Given the description of an element on the screen output the (x, y) to click on. 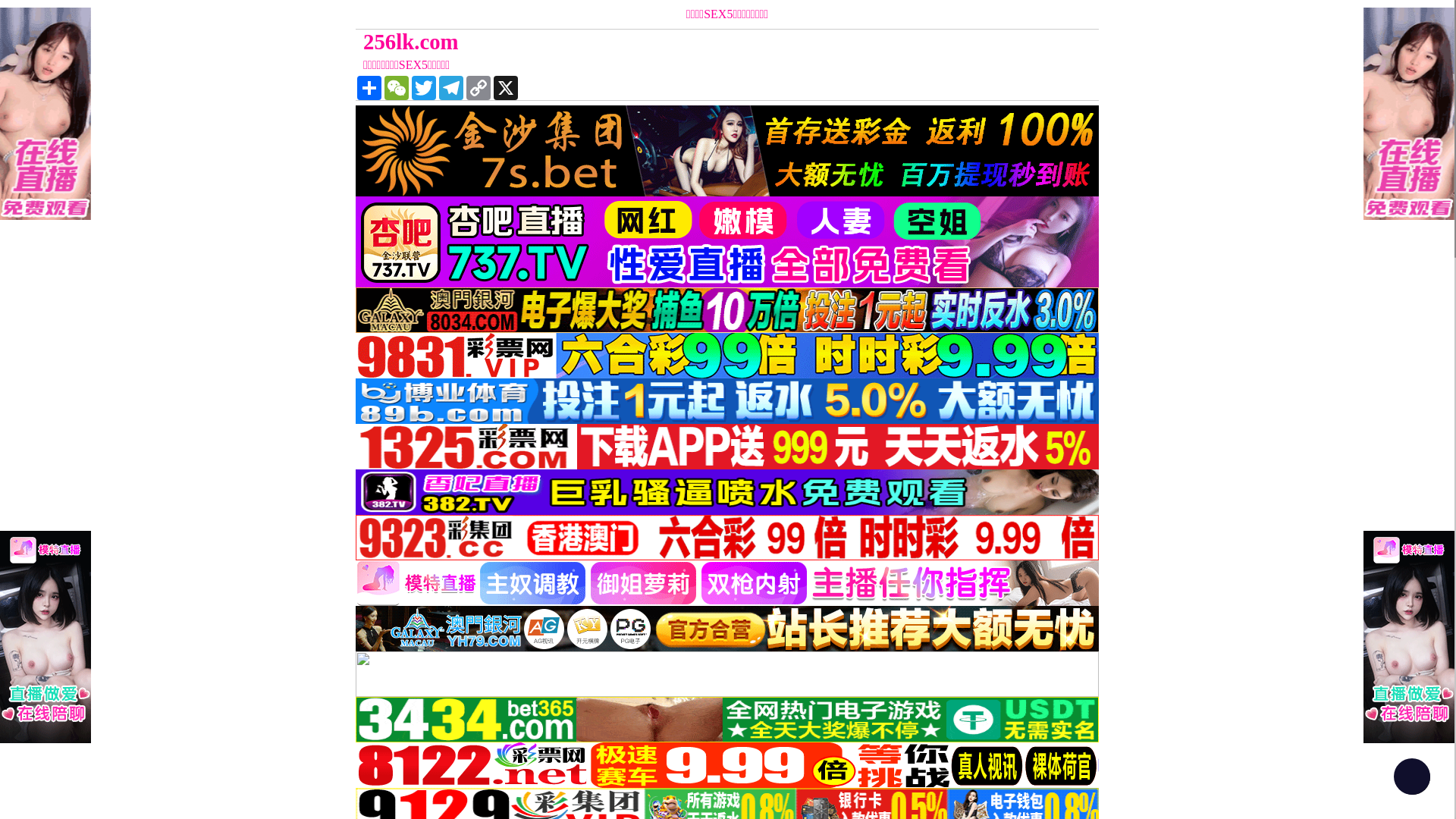
X Element type: text (505, 87)
Copy Link Element type: text (478, 87)
Twitter Element type: text (423, 87)
256lk.com Element type: text (634, 41)
WeChat Element type: text (396, 87)
Telegram Element type: text (450, 87)
